Given the description of an element on the screen output the (x, y) to click on. 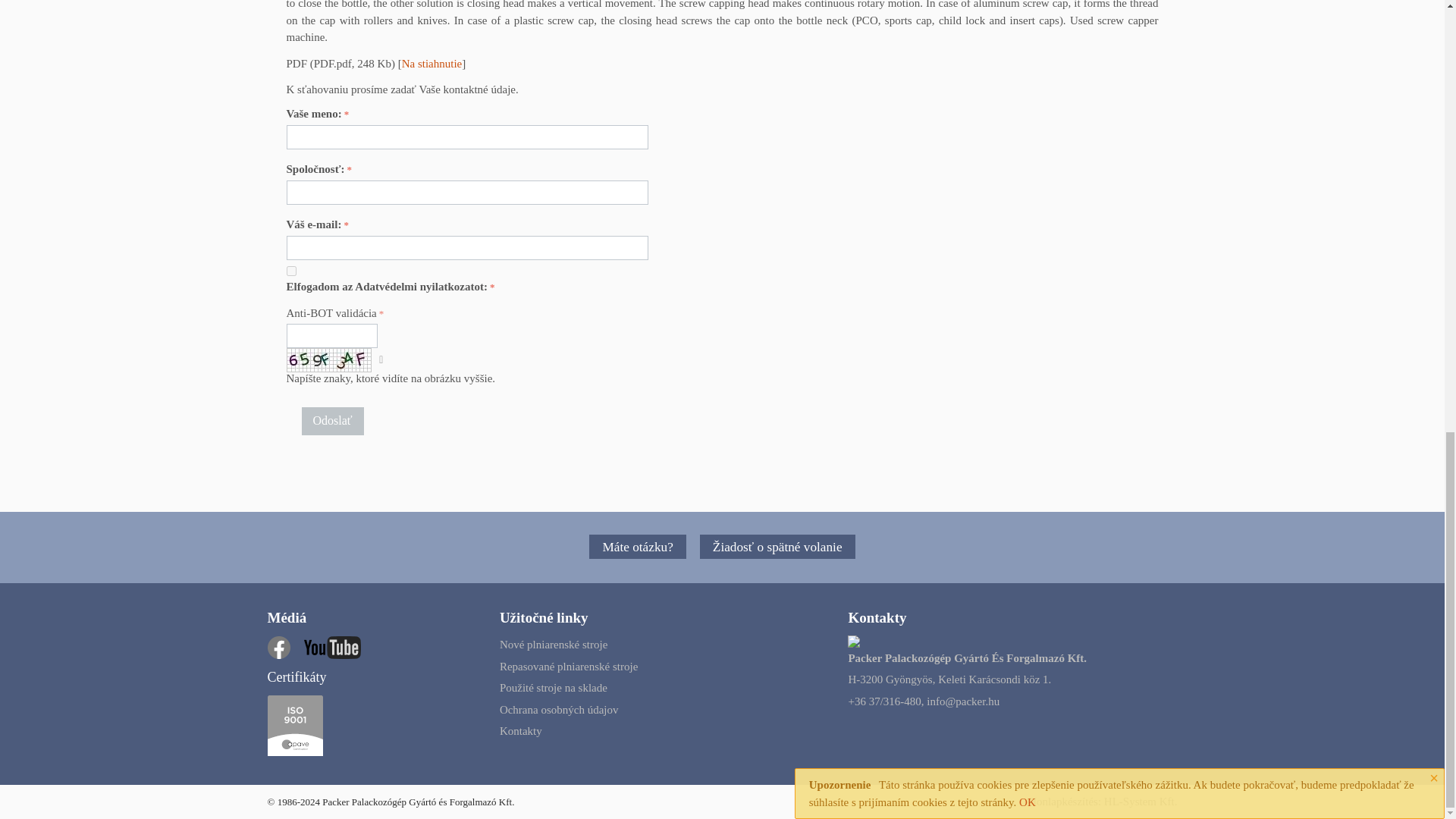
1 (291, 271)
